Given the description of an element on the screen output the (x, y) to click on. 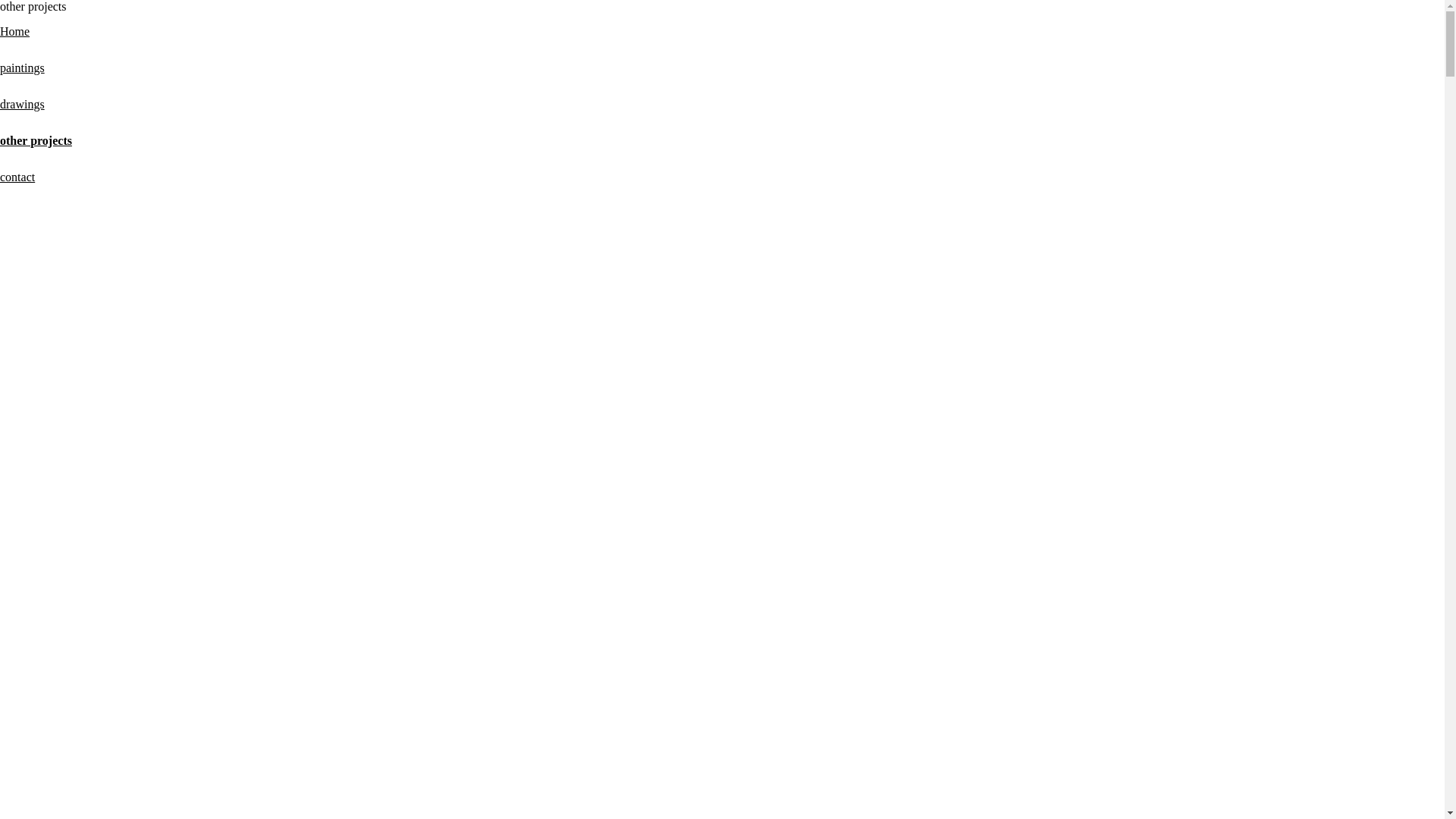
drawings Element type: text (22, 103)
other projects Element type: text (36, 140)
paintings Element type: text (22, 67)
Home Element type: text (14, 31)
contact Element type: text (17, 176)
